Given the description of an element on the screen output the (x, y) to click on. 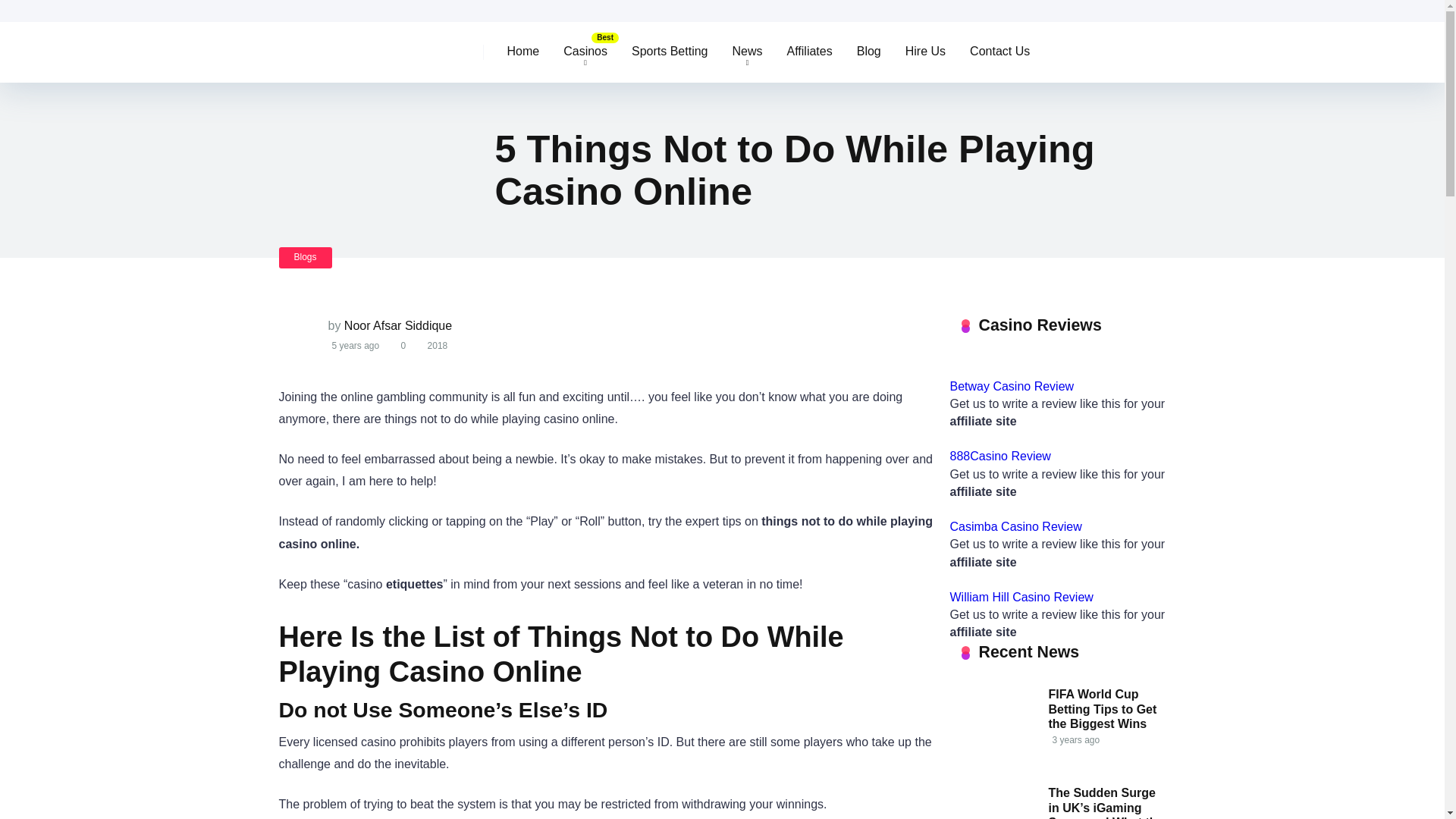
Affiliates (809, 52)
Sports Betting (670, 52)
Contact Us (1000, 52)
Betway Casino Review (1011, 386)
Noor Afsar Siddique (397, 325)
William Hill Casino Review (1021, 596)
Hire Us (925, 52)
Blogs (305, 257)
News (747, 52)
Home (523, 52)
